Given the description of an element on the screen output the (x, y) to click on. 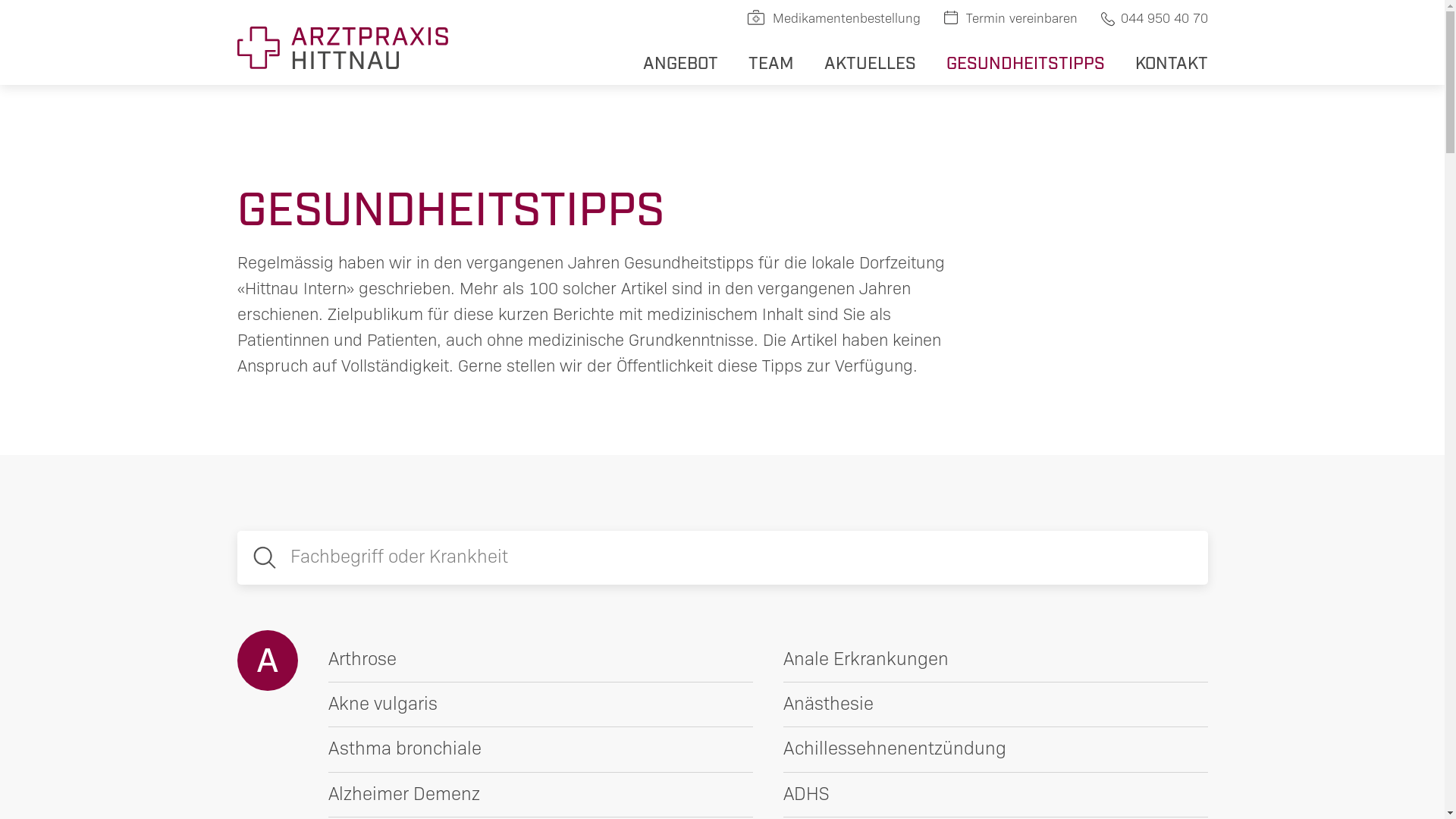
Anale Erkrankungen Element type: text (994, 659)
Alzheimer Demenz Element type: text (539, 794)
KONTAKT Element type: text (1170, 61)
TEAM Element type: text (770, 61)
044 950 40 70 Element type: text (1153, 18)
Asthma bronchiale Element type: text (539, 749)
Medikamentenbestellung Element type: text (832, 18)
AKTUELLES Element type: text (869, 61)
Akne vulgaris Element type: text (539, 705)
ANGEBOT Element type: text (680, 61)
Arthrose Element type: text (539, 659)
ADHS Element type: text (994, 794)
GESUNDHEITSTIPPS Element type: text (1025, 61)
Termin vereinbaren Element type: text (1010, 18)
